Given the description of an element on the screen output the (x, y) to click on. 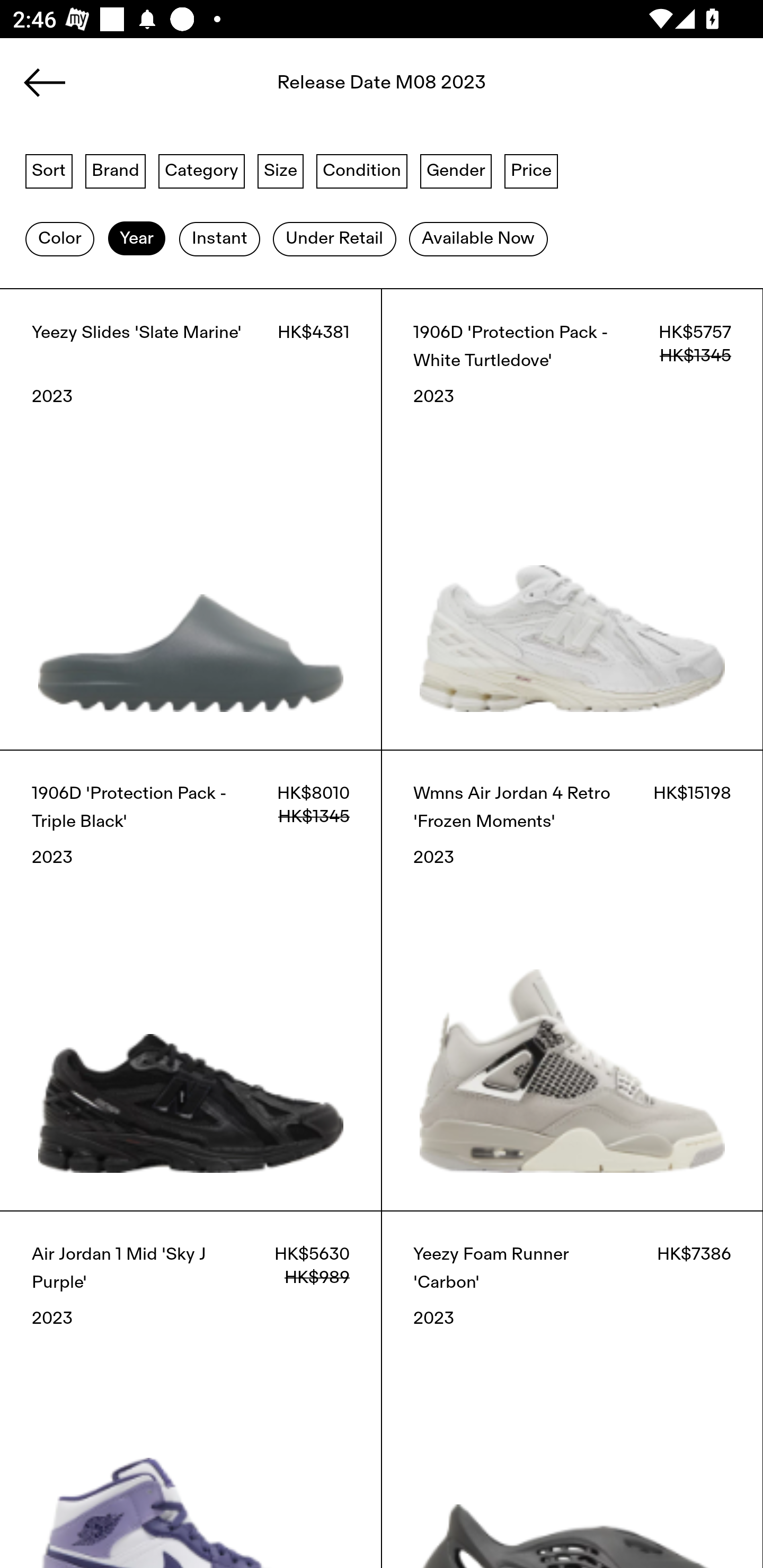
Sort (48, 170)
Brand (115, 170)
Category (201, 170)
Size (280, 170)
Condition (361, 170)
Gender (455, 170)
Price (530, 170)
Color (59, 239)
Year (136, 239)
Instant (219, 239)
Under Retail (334, 239)
Available Now (477, 239)
Yeezy Slides 'Slate Marine' HK$4381 2023 (190, 518)
Yeezy Foam Runner 'Carbon' HK$7386 2023 (572, 1389)
